Given the description of an element on the screen output the (x, y) to click on. 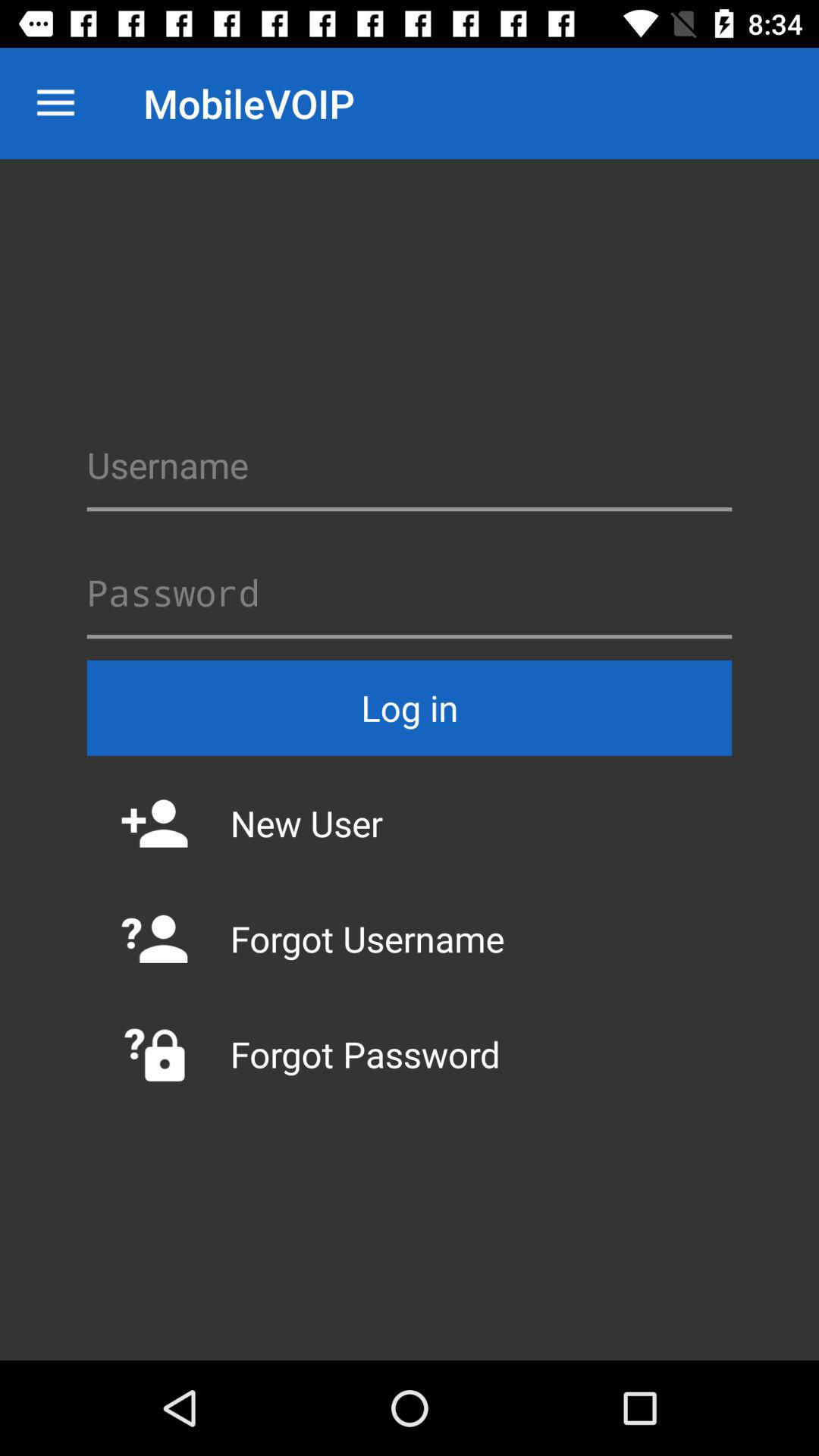
turn off log in icon (409, 707)
